Given the description of an element on the screen output the (x, y) to click on. 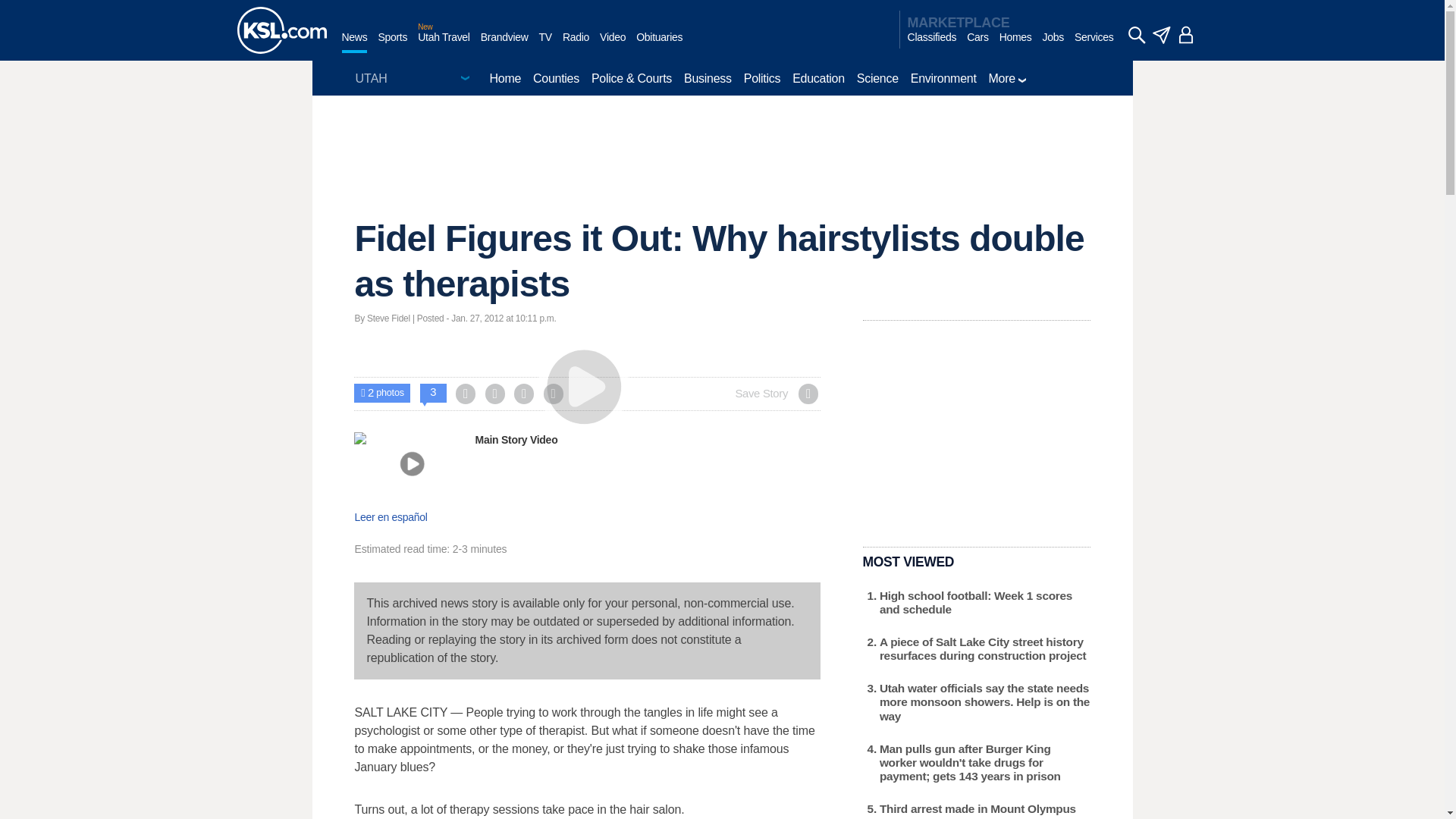
search (1135, 34)
KSL homepage (280, 29)
account - logged out (1185, 34)
